Given the description of an element on the screen output the (x, y) to click on. 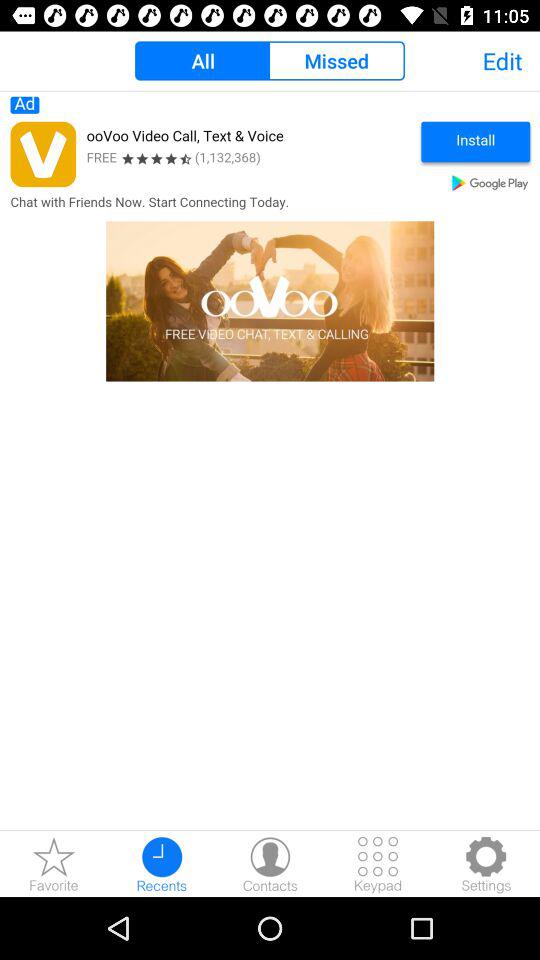
display contacts (269, 864)
